Given the description of an element on the screen output the (x, y) to click on. 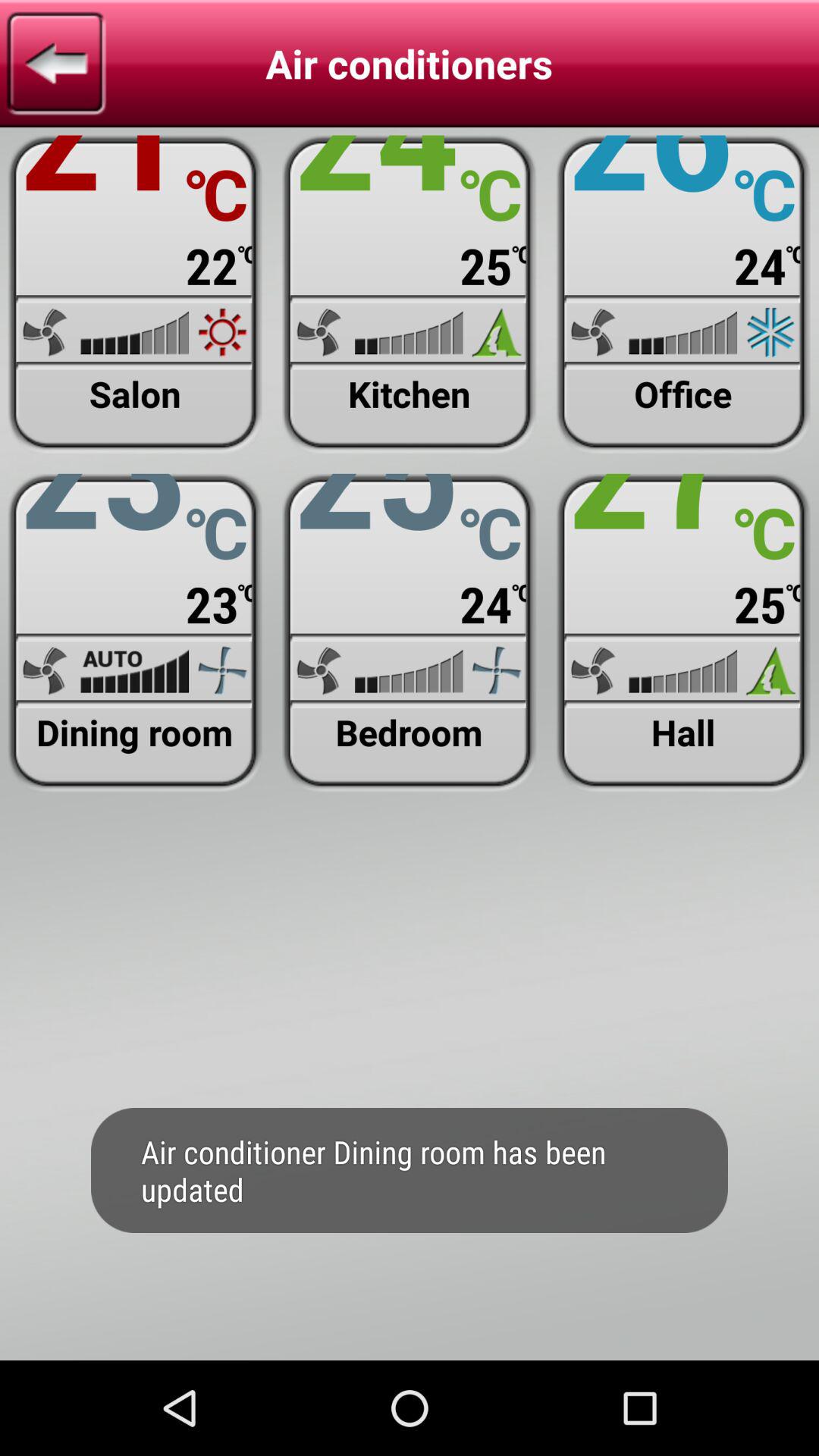
add the option (134, 294)
